Given the description of an element on the screen output the (x, y) to click on. 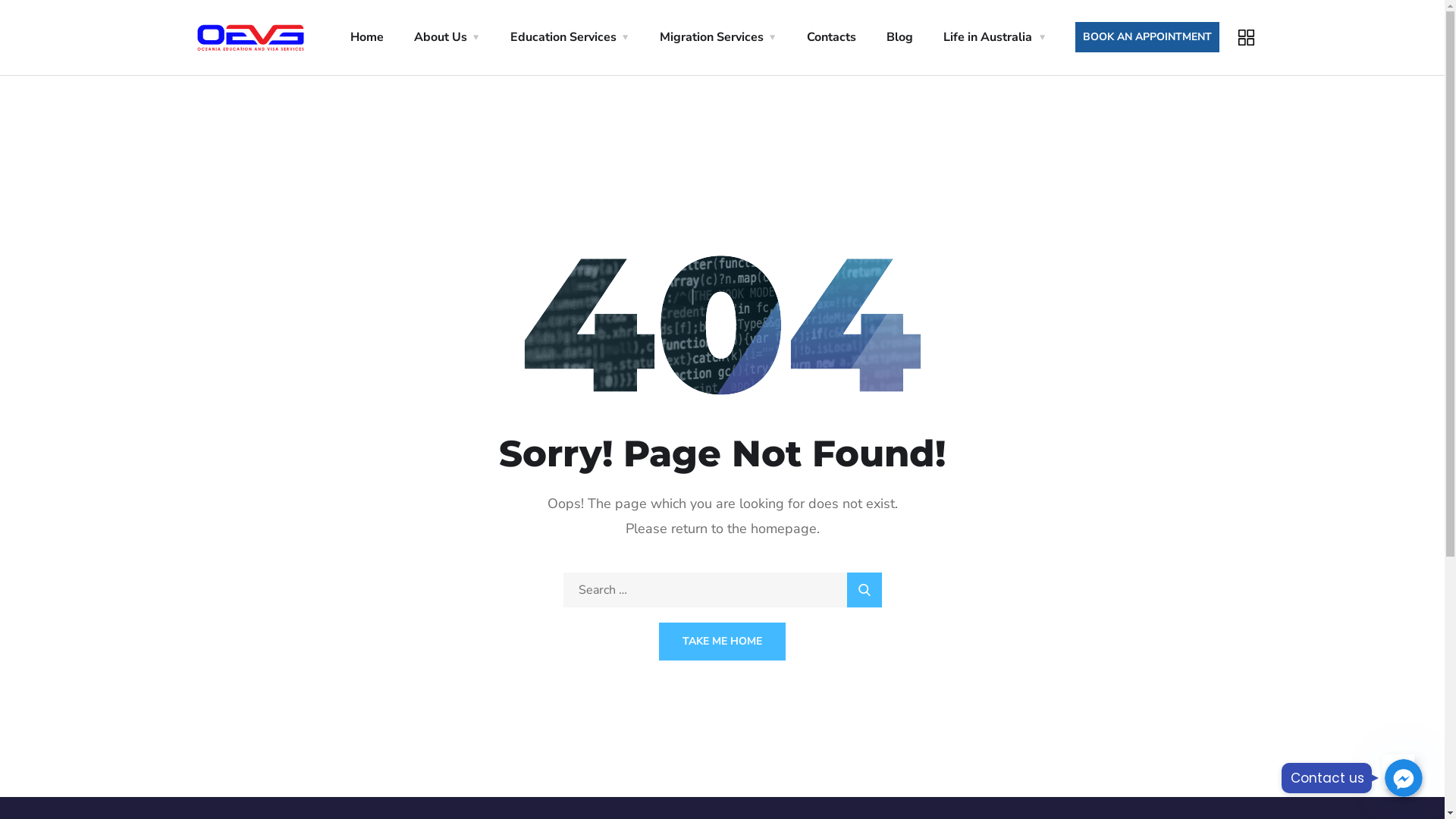
TAKE ME HOME Element type: text (721, 641)
Blog Element type: text (899, 37)
Send us your message Element type: text (1403, 778)
BOOK AN APPOINTMENT Element type: text (1147, 36)
Life in Australia Element type: text (993, 37)
Migration Services Element type: text (717, 37)
Contacts Element type: text (831, 37)
Education Services Element type: text (569, 37)
About Us Element type: text (447, 37)
Home Element type: text (366, 37)
